Given the description of an element on the screen output the (x, y) to click on. 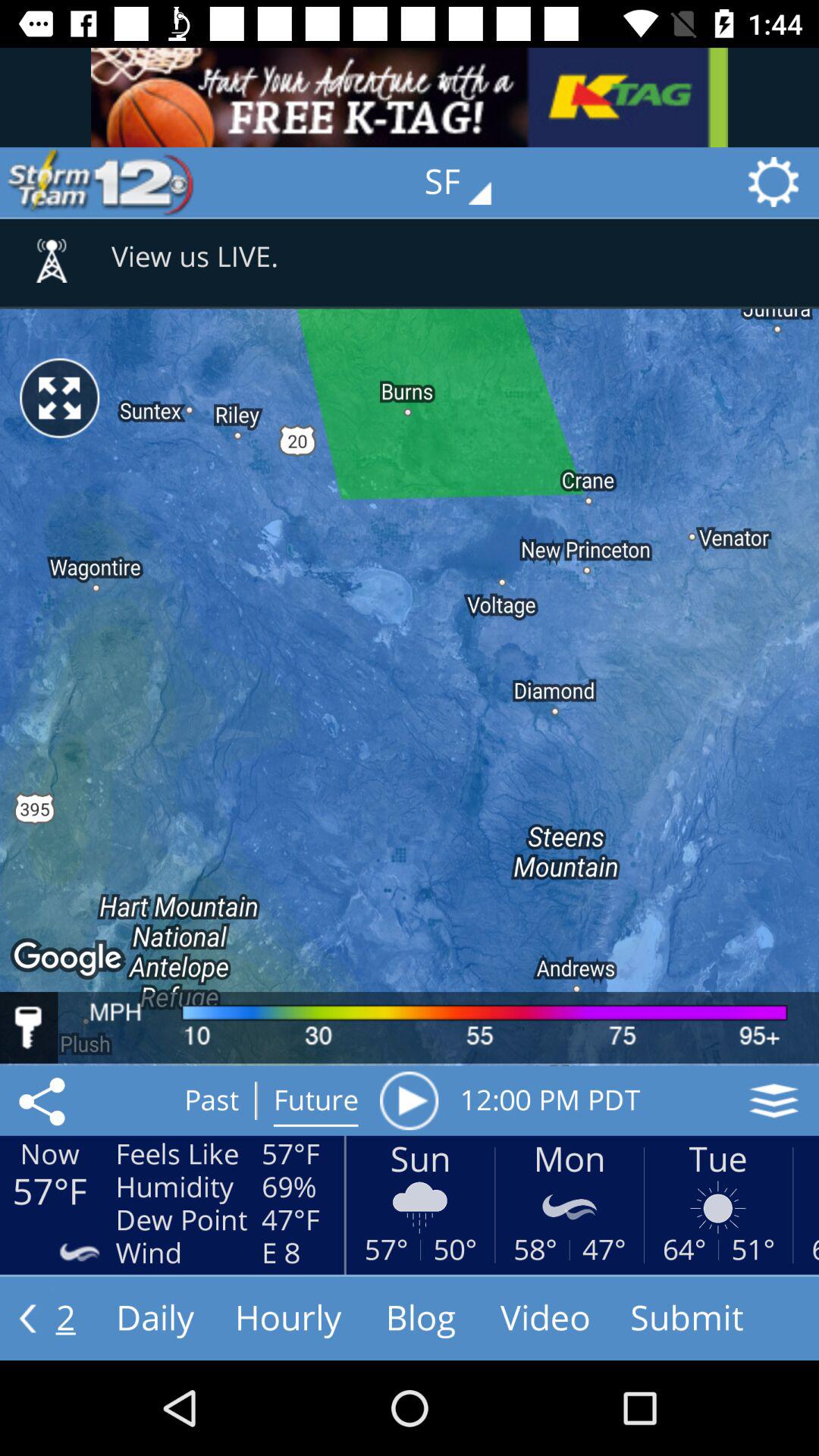
choose icon next to 12 00 pm item (774, 1100)
